Given the description of an element on the screen output the (x, y) to click on. 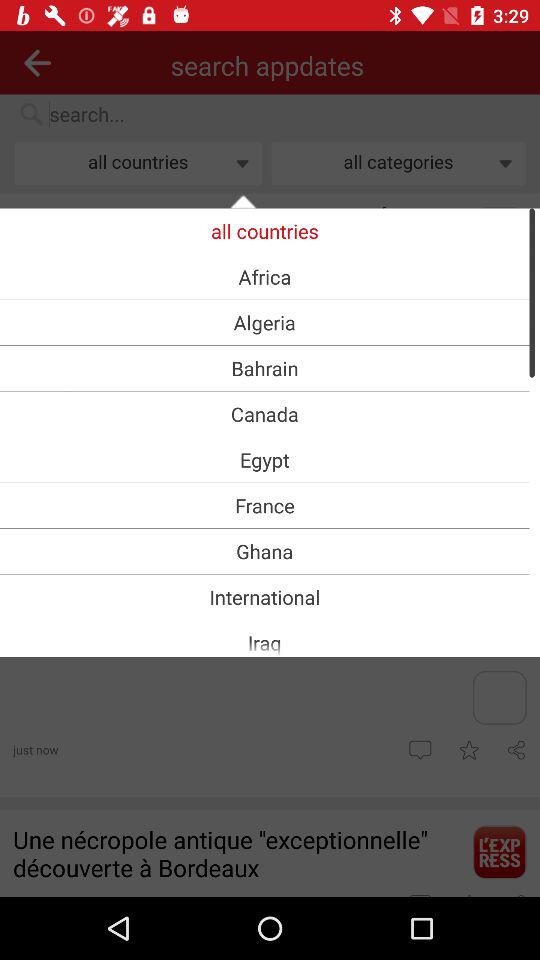
launch the france icon (264, 505)
